Given the description of an element on the screen output the (x, y) to click on. 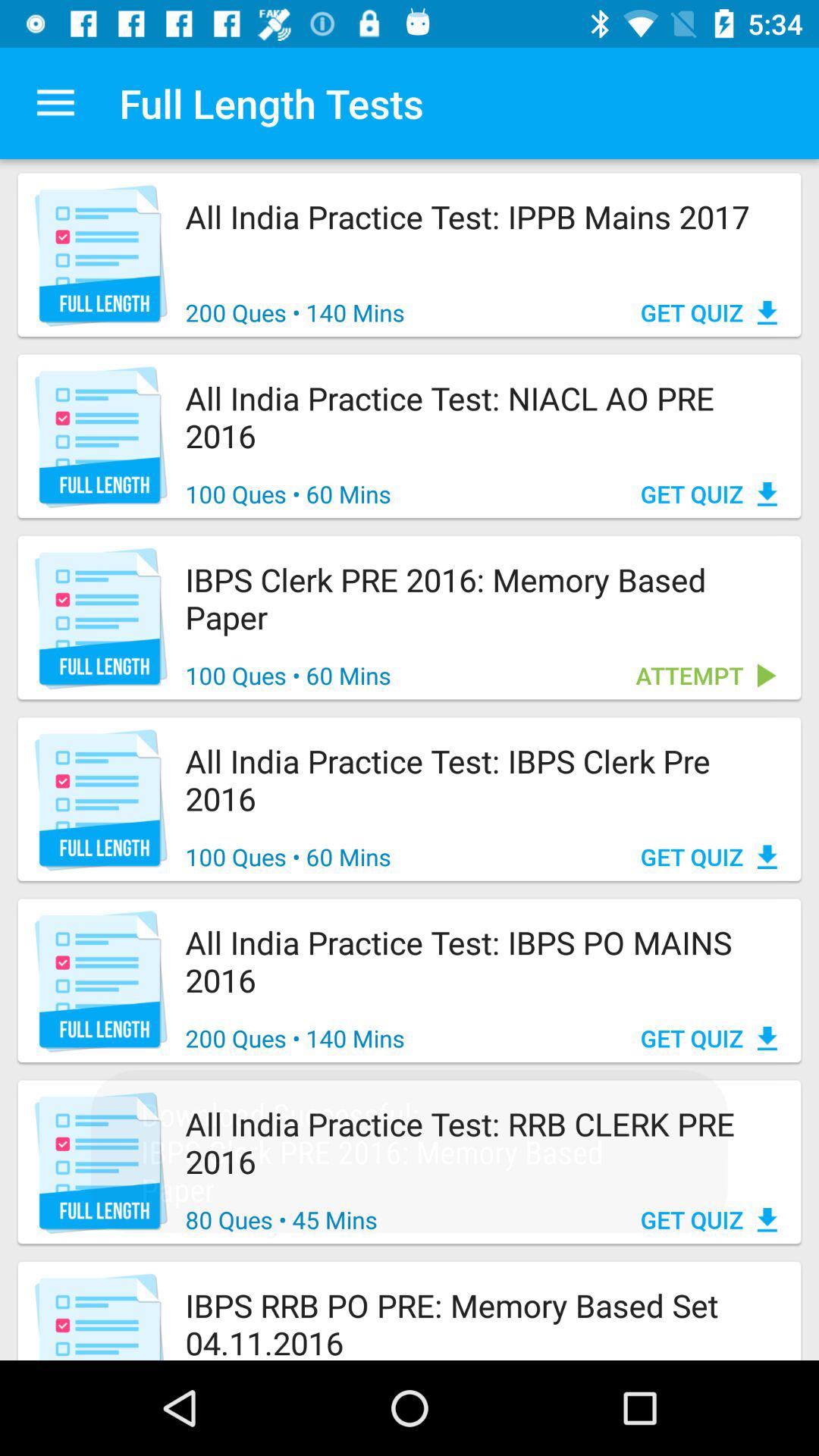
launch the app to the left of the full length tests app (55, 103)
